Given the description of an element on the screen output the (x, y) to click on. 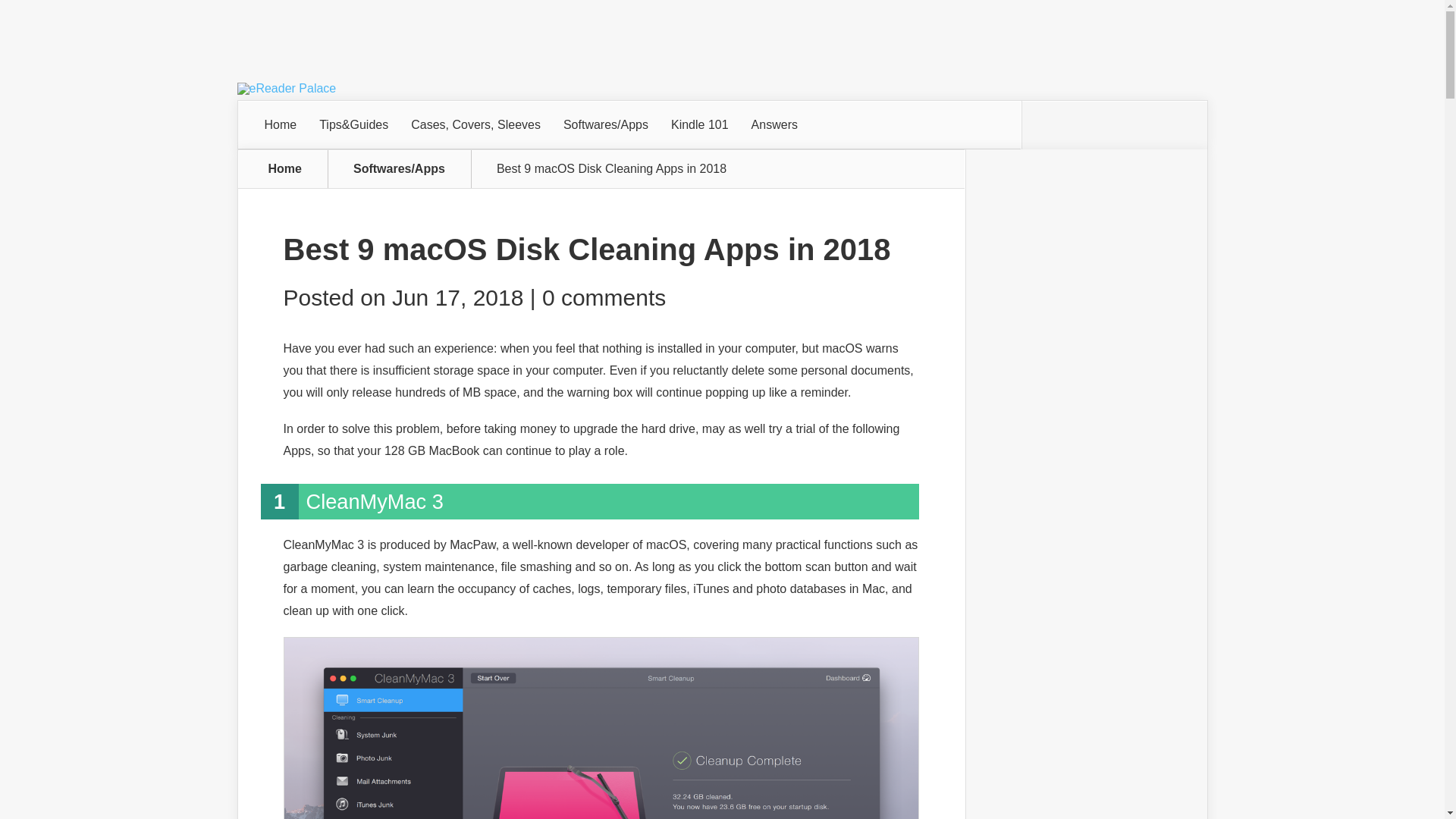
Home (280, 124)
Subscribe To Rss Feed (1044, 124)
Answers (774, 124)
Kindle 101 (699, 124)
0 comments (603, 297)
Cases, Covers, Sleeves (474, 124)
Home (285, 168)
